Given the description of an element on the screen output the (x, y) to click on. 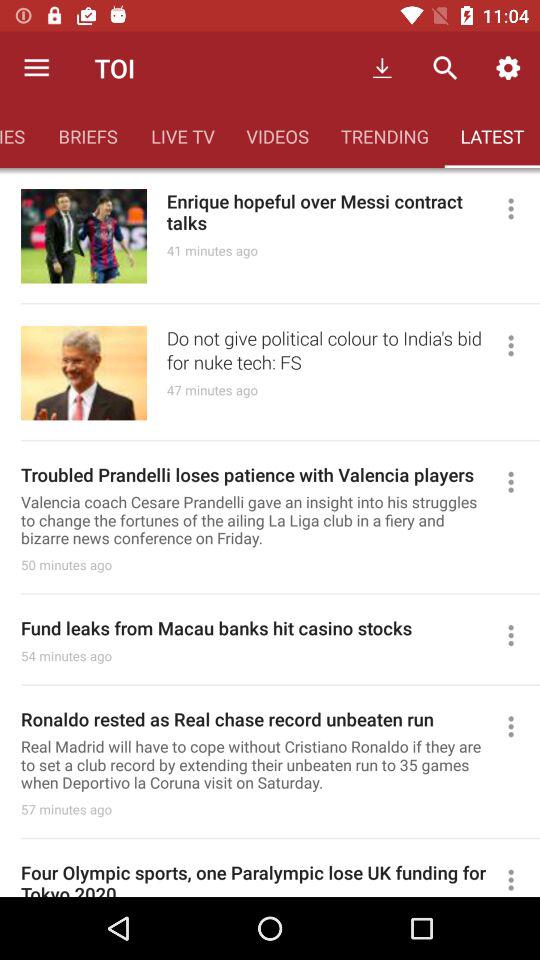
more news (519, 635)
